Given the description of an element on the screen output the (x, y) to click on. 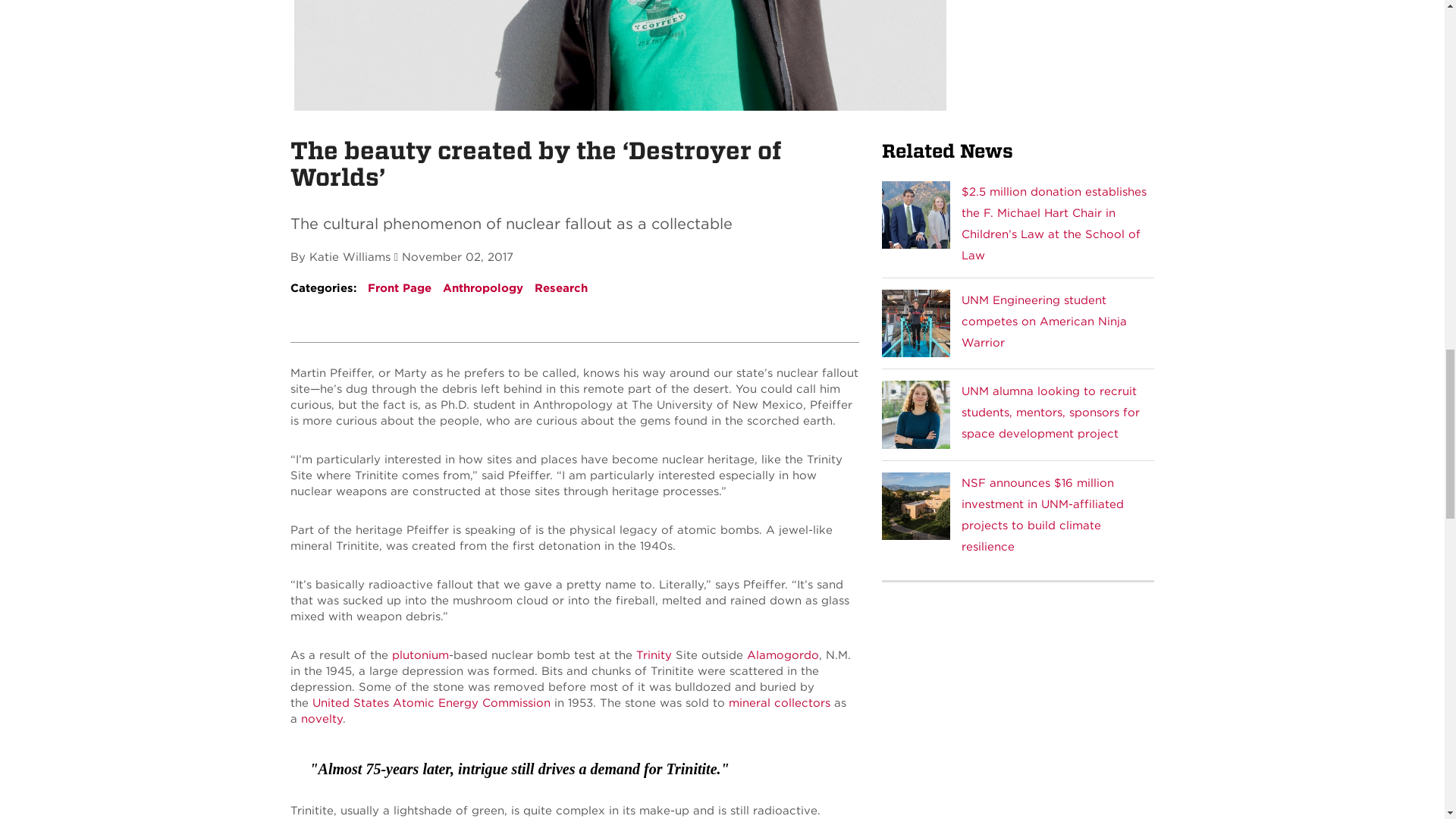
United States Atomic Energy Commission (431, 703)
Mineral collector (778, 703)
Trinity test (652, 654)
Plutonium (419, 654)
Novelty (320, 718)
Alamogordo (781, 654)
